Given the description of an element on the screen output the (x, y) to click on. 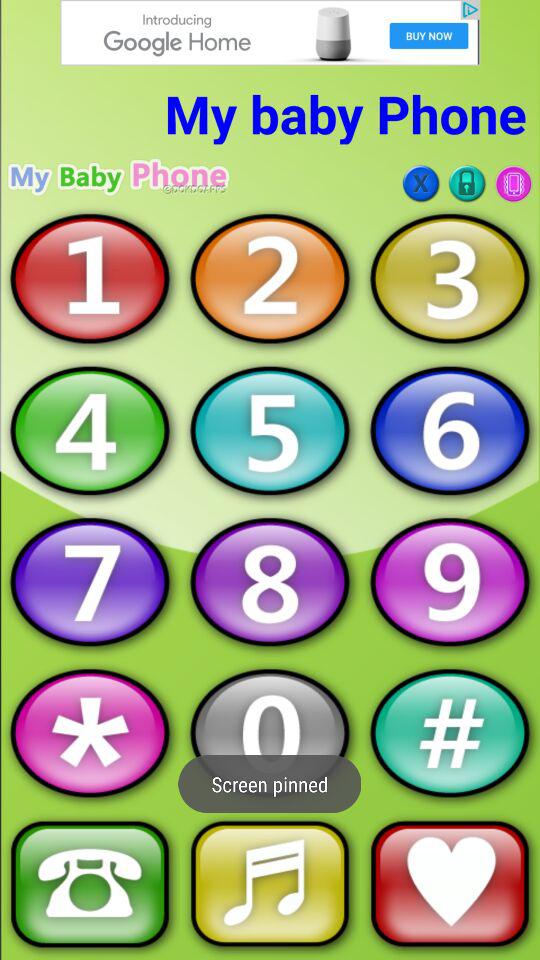
lock screen (467, 183)
